Given the description of an element on the screen output the (x, y) to click on. 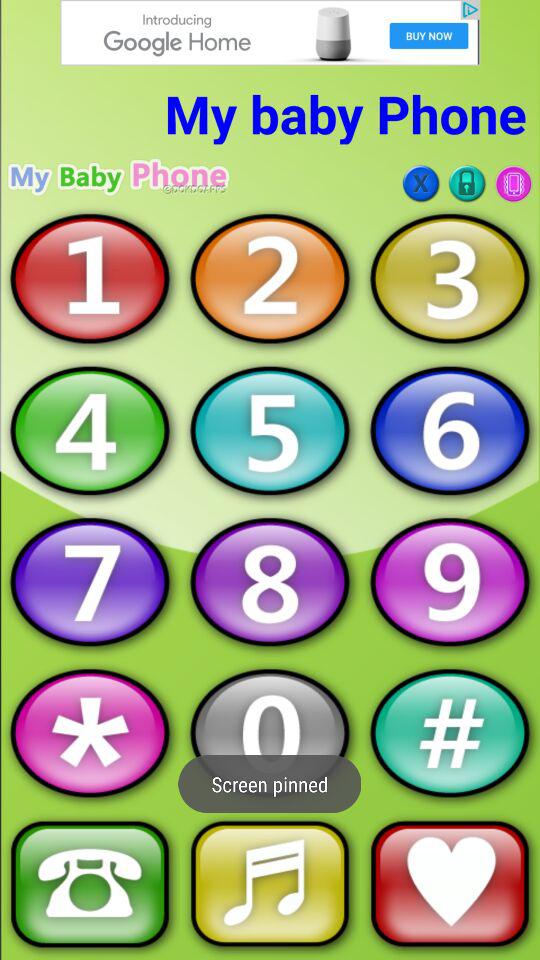
lock screen (467, 183)
